Given the description of an element on the screen output the (x, y) to click on. 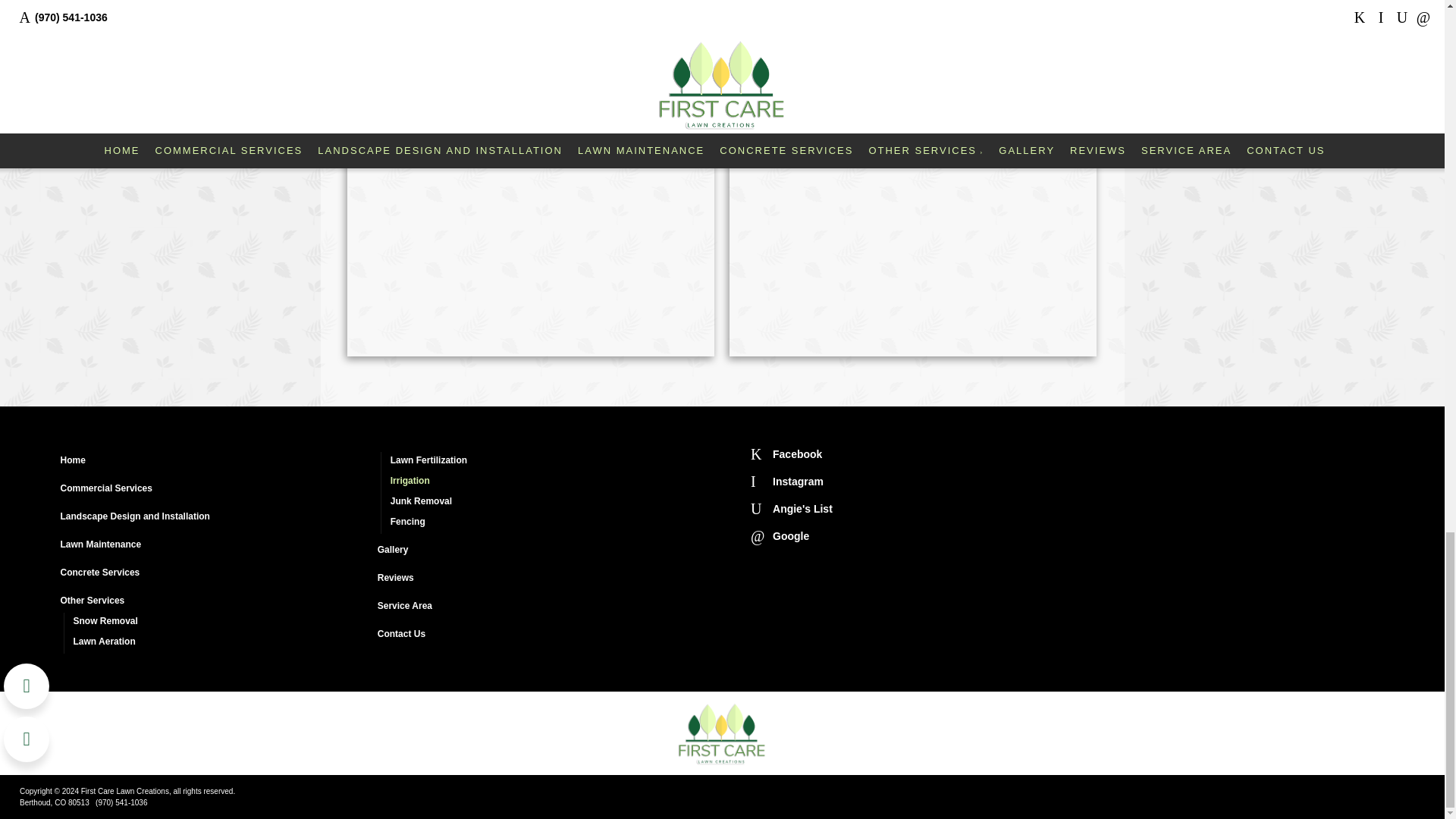
Facebook (786, 452)
First Care Lawn Creations (722, 733)
Instagram (787, 480)
Google (780, 534)
Angie's List (791, 507)
